Given the description of an element on the screen output the (x, y) to click on. 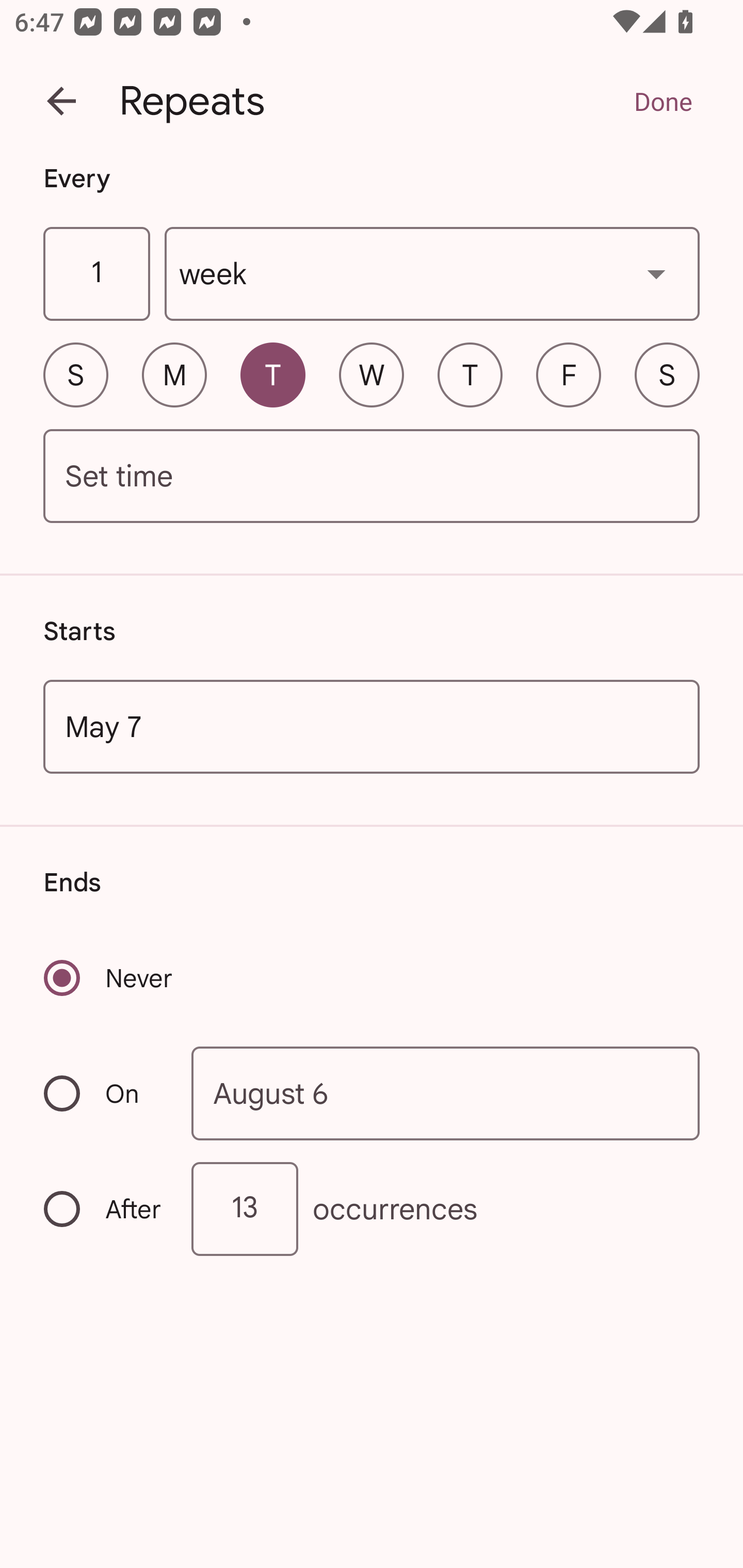
Back (61, 101)
Done (663, 101)
1 (96, 274)
week (431, 274)
Show dropdown menu (655, 273)
S Sunday (75, 374)
M Monday (173, 374)
T Tuesday, selected (272, 374)
W Wednesday (371, 374)
T Thursday (469, 374)
F Friday (568, 374)
S Saturday (666, 374)
Set time (371, 476)
May 7 (371, 726)
Never Recurrence never ends (109, 978)
August 6 (445, 1092)
On Recurrence ends on a specific date (104, 1093)
13 (244, 1208)
